Given the description of an element on the screen output the (x, y) to click on. 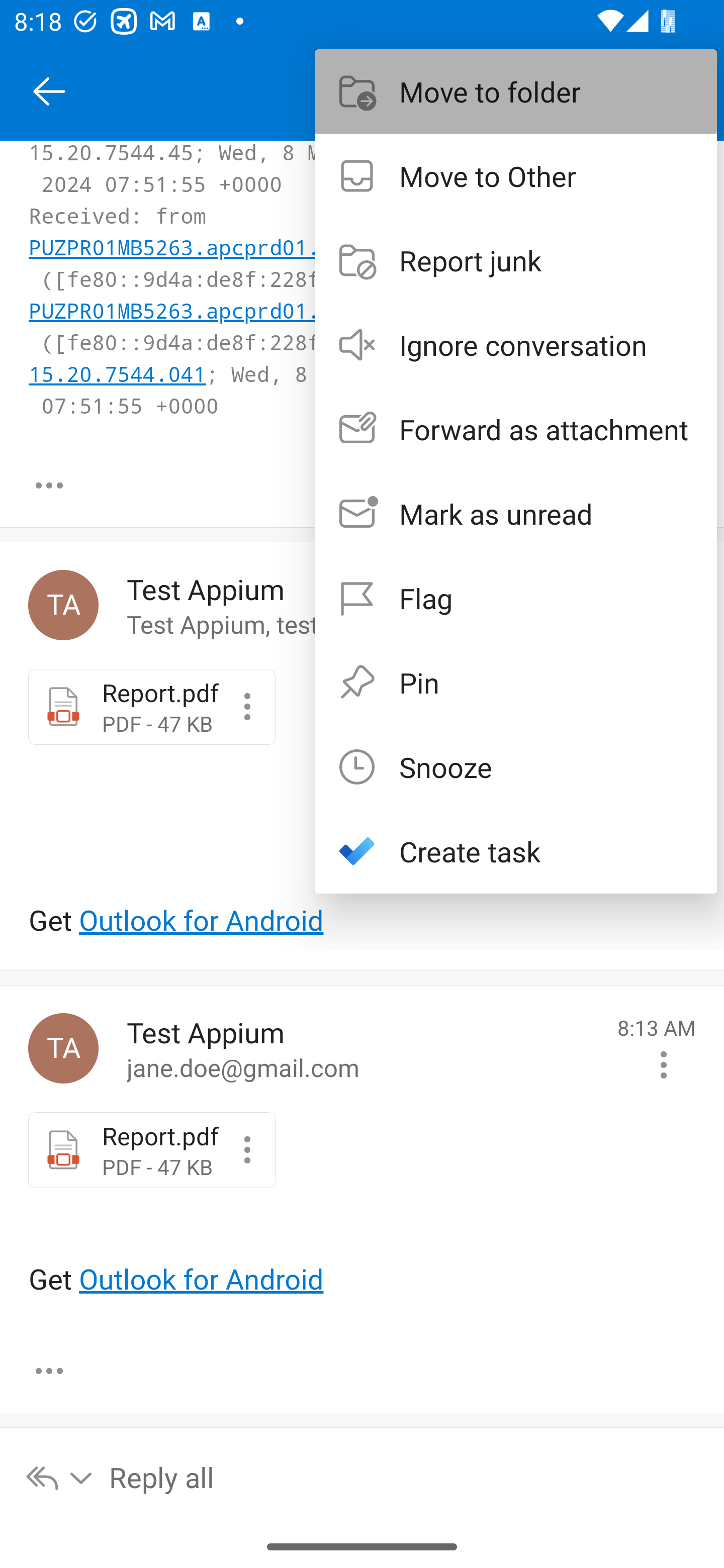
Move to folder (515, 90)
Move to Other (515, 175)
Report junk (515, 259)
Ignore conversation (515, 344)
Forward as attachment (515, 429)
Mark as unread (515, 513)
Flag (515, 597)
Pin (515, 681)
Snooze (515, 766)
Create task (515, 851)
